Given the description of an element on the screen output the (x, y) to click on. 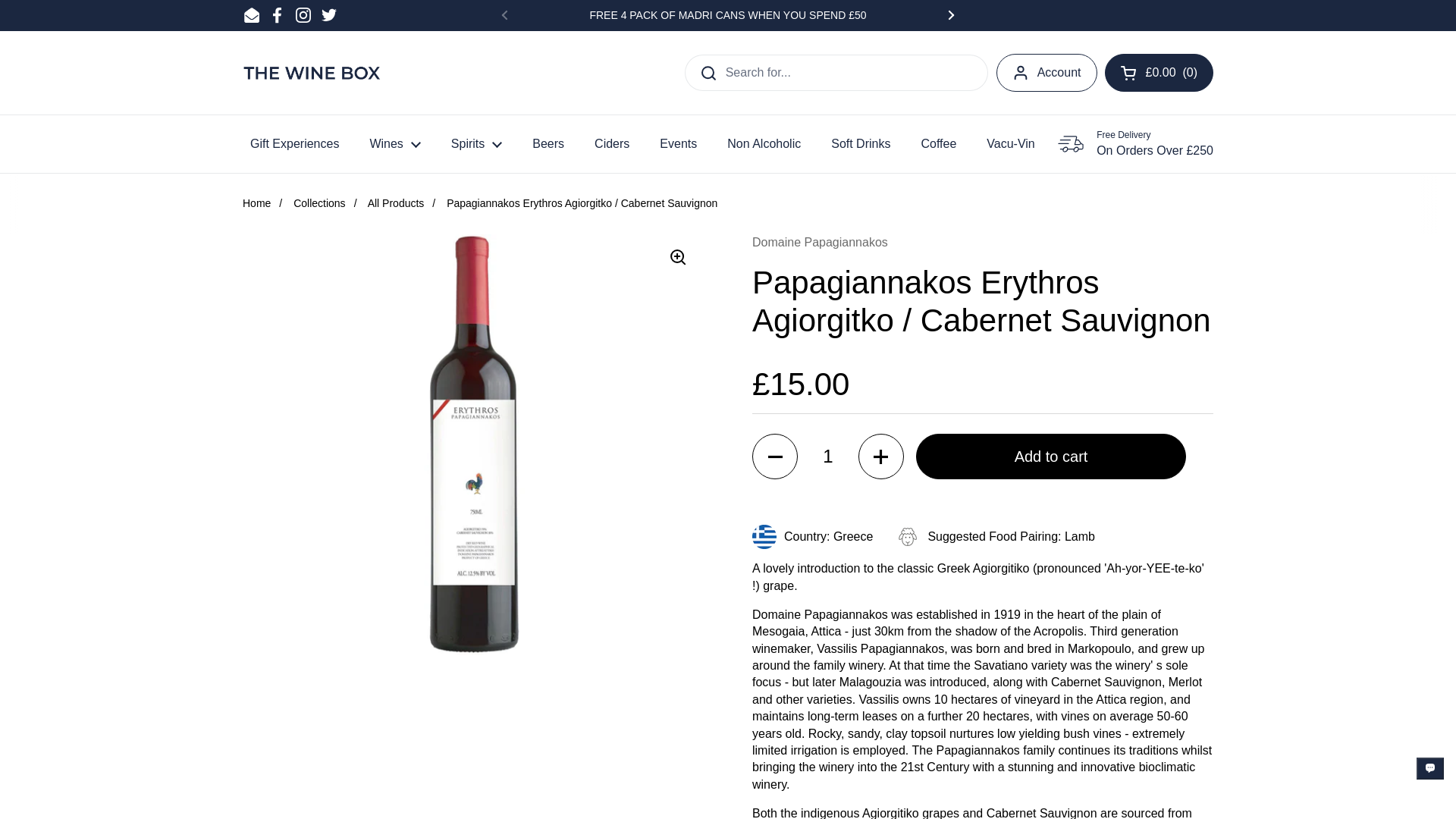
Open cart (1157, 72)
Facebook (276, 14)
The Wine Box (312, 72)
Gift Experiences (293, 143)
Email (251, 14)
Wines (394, 143)
1 (827, 456)
Twitter (328, 14)
Instagram (303, 14)
Account (1046, 72)
